Given the description of an element on the screen output the (x, y) to click on. 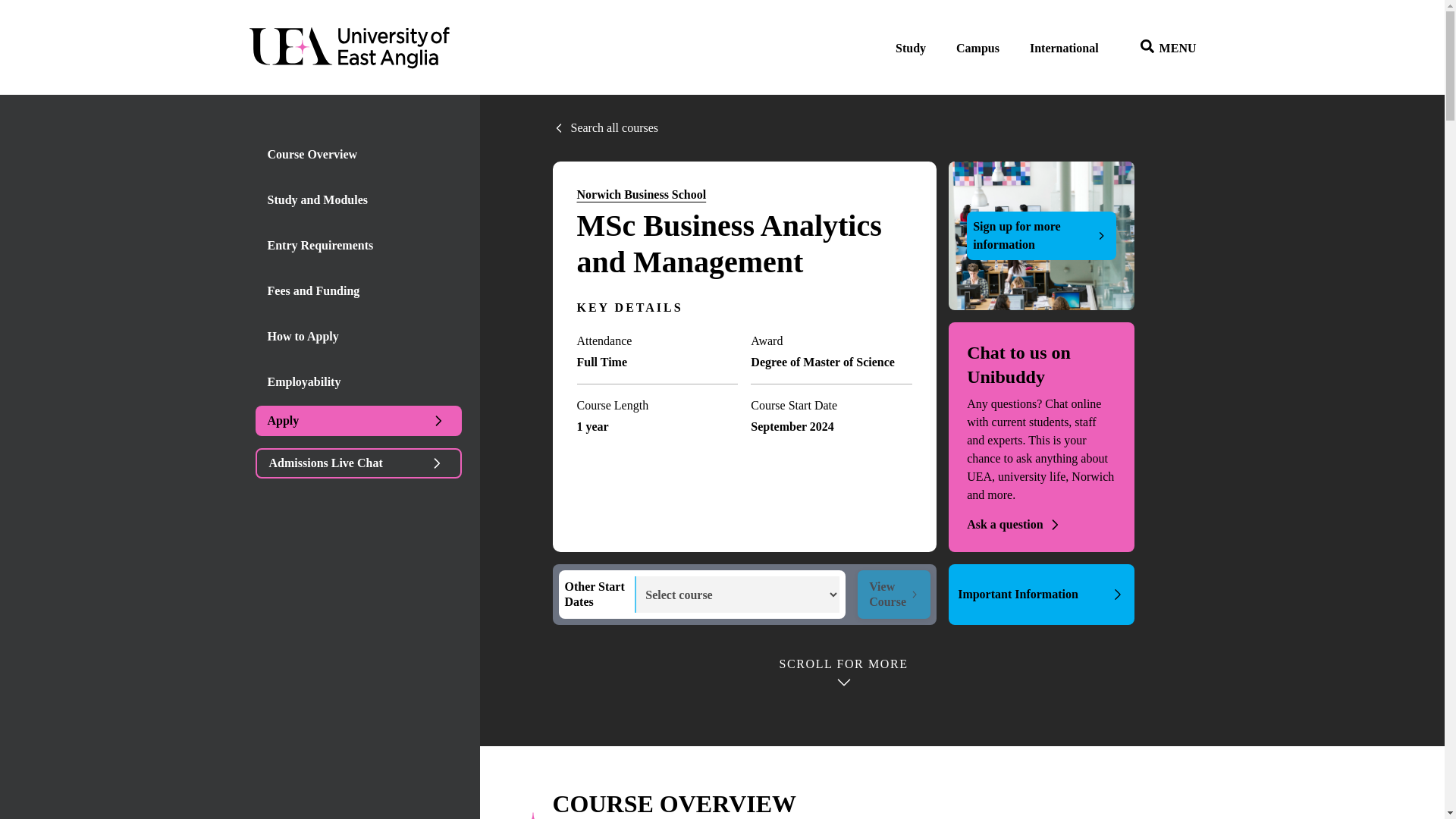
Go to University of East Anglia (350, 48)
Campus (977, 47)
Study (910, 47)
International (1064, 47)
Important Information (1041, 594)
MENU (1162, 48)
Open Menu (1162, 48)
